Given the description of an element on the screen output the (x, y) to click on. 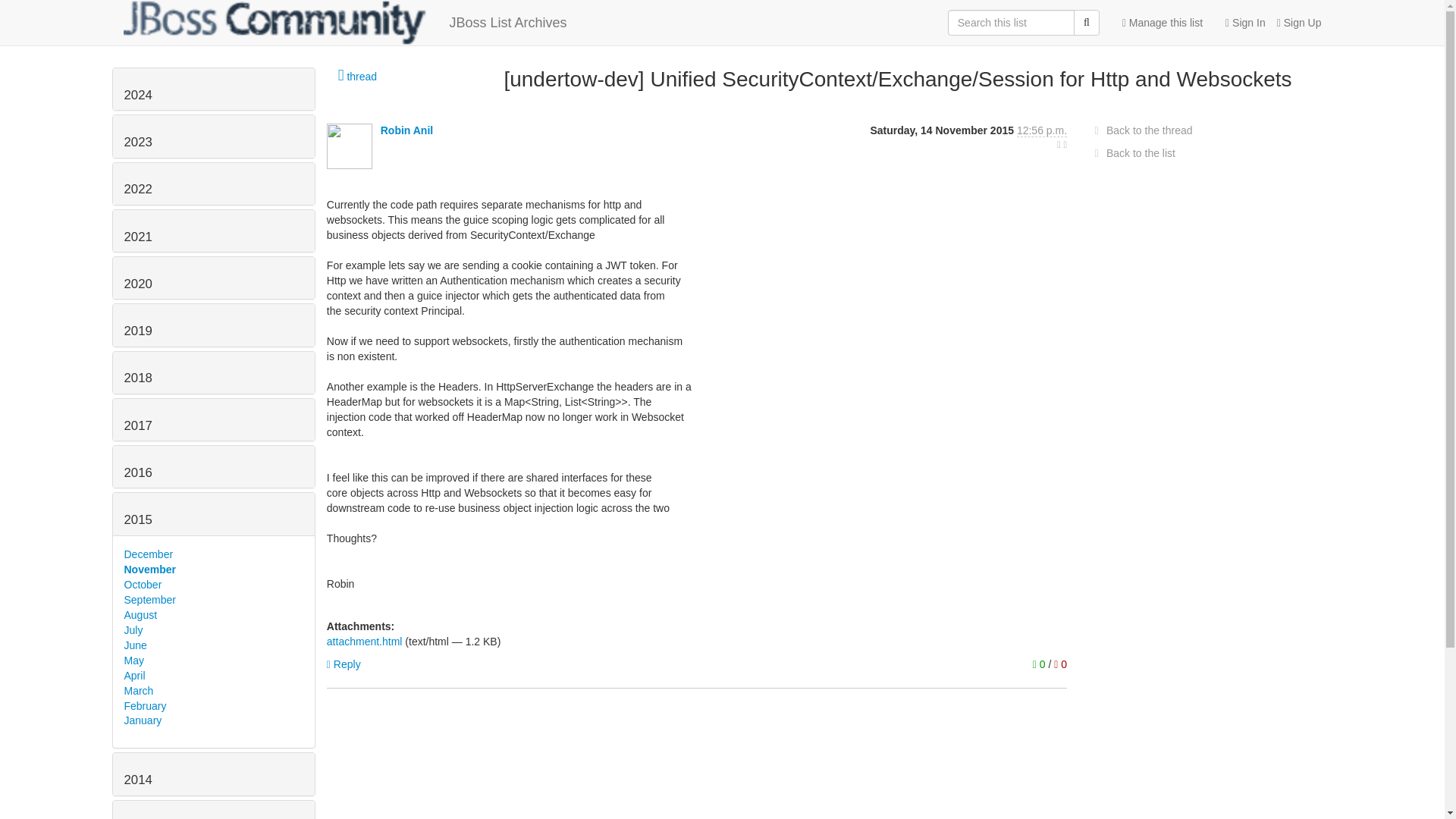
Sign Up (1293, 22)
You must be logged-in to vote. (1060, 664)
Manage this list (1162, 22)
JBoss List Archives (345, 22)
JBoss List Archives (345, 22)
2024 (137, 94)
See the profile for Robin Anil (406, 130)
2023 (137, 142)
Sender's time: Nov. 14, 2015, 12:56 p.m. (1041, 130)
Sign In (1239, 22)
